Given the description of an element on the screen output the (x, y) to click on. 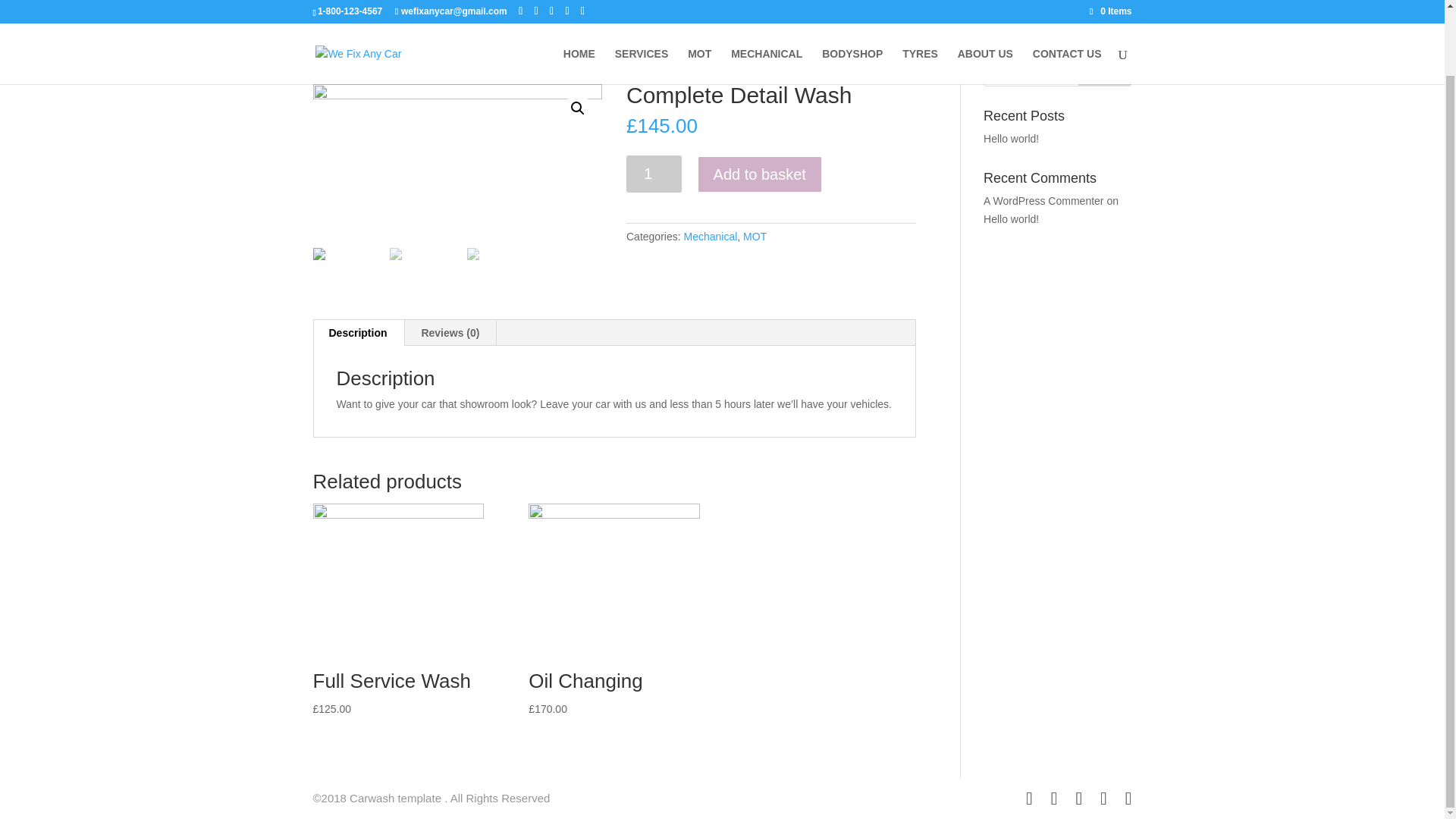
HOME (579, 6)
1 (653, 173)
BODYSHOP (852, 6)
ABOUT US (985, 6)
Search (1104, 71)
img05 (457, 156)
Home (325, 64)
CONTACT US (1067, 6)
Description (358, 332)
MECHANICAL (766, 6)
Mechanical (709, 236)
SERVICES (641, 6)
Add to basket (759, 174)
TYRES (919, 6)
MOT (754, 236)
